Given the description of an element on the screen output the (x, y) to click on. 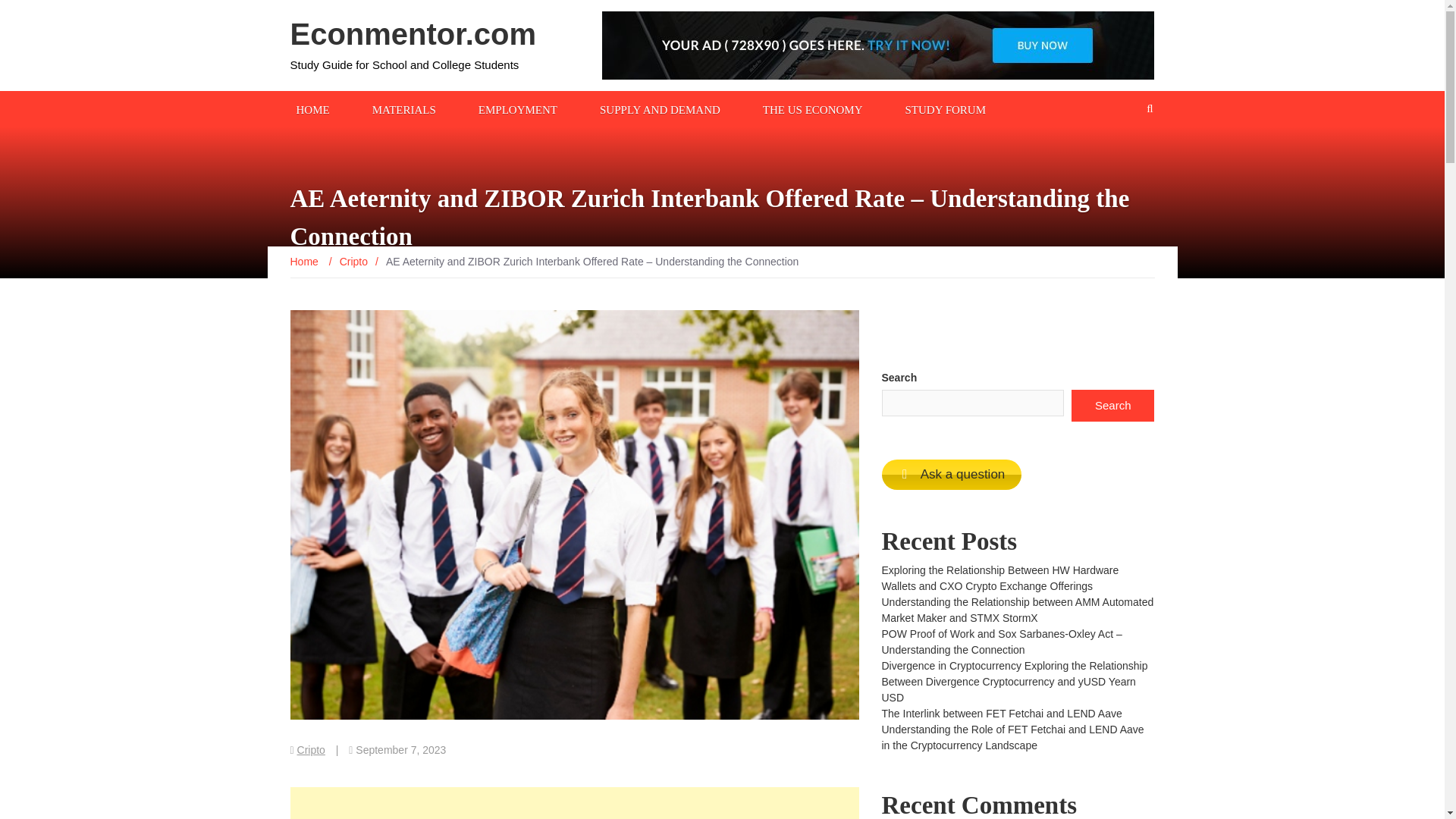
Search (1112, 405)
STUDY FORUM (944, 108)
Home (304, 261)
THE US ECONOMY (813, 108)
EMPLOYMENT (517, 108)
Ask a question (951, 474)
Econmentor.com (412, 33)
Cripto (310, 749)
MATERIALS (404, 108)
SUPPLY AND DEMAND (660, 108)
Cripto (353, 261)
